Given the description of an element on the screen output the (x, y) to click on. 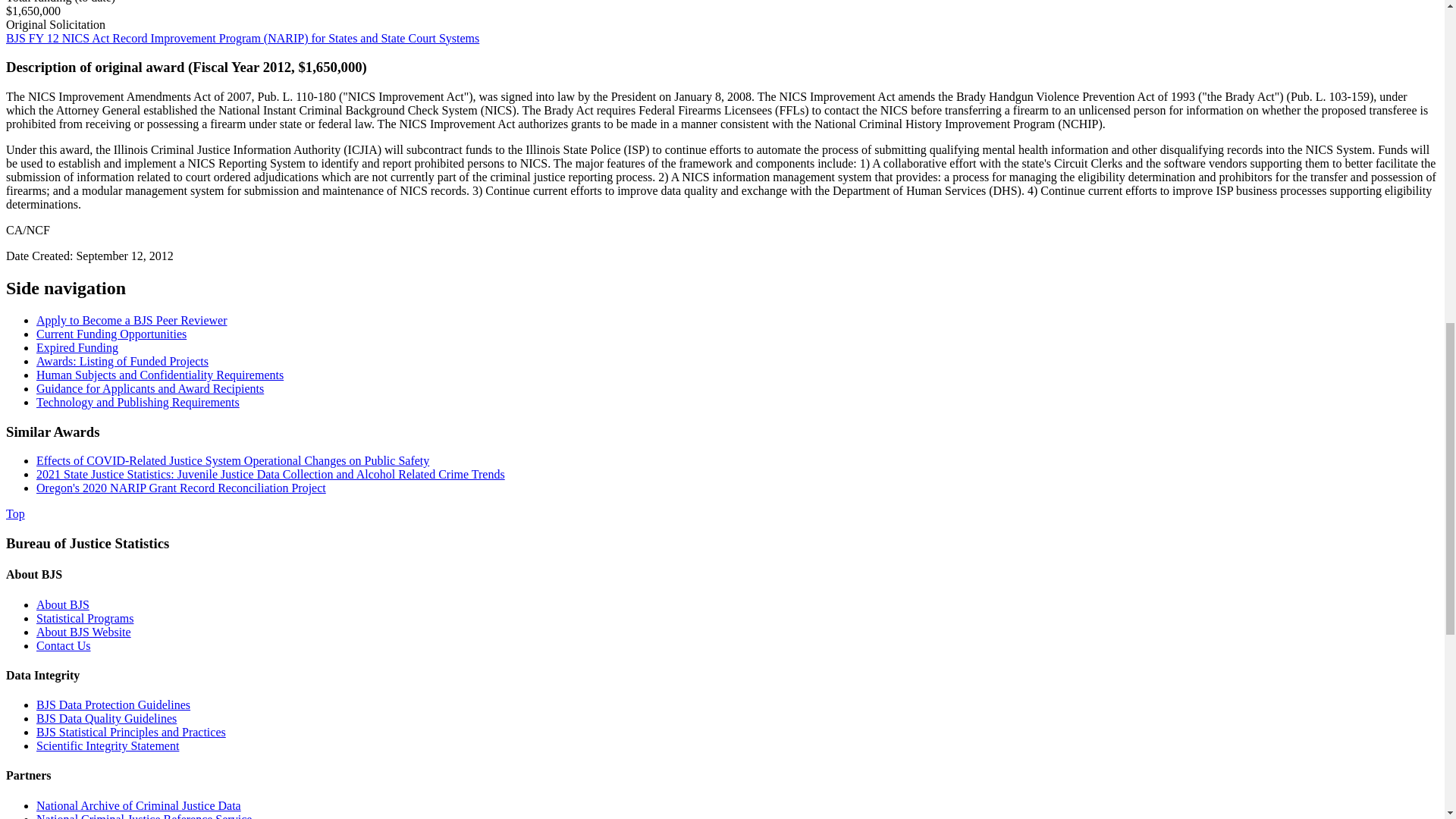
Technology and Publishing Requirements (138, 401)
Apply to Become a BJS Peer Reviewer (131, 319)
Current Funding Opportunities (111, 333)
Human Subjects and Confidentiality Requirements (159, 374)
Expired Funding (76, 347)
Awards: Listing of Funded Projects (122, 360)
Guidance for Applicants and Award Recipients (149, 388)
Oregon's 2020 NARIP Grant Record Reconciliation Project (181, 487)
